Given the description of an element on the screen output the (x, y) to click on. 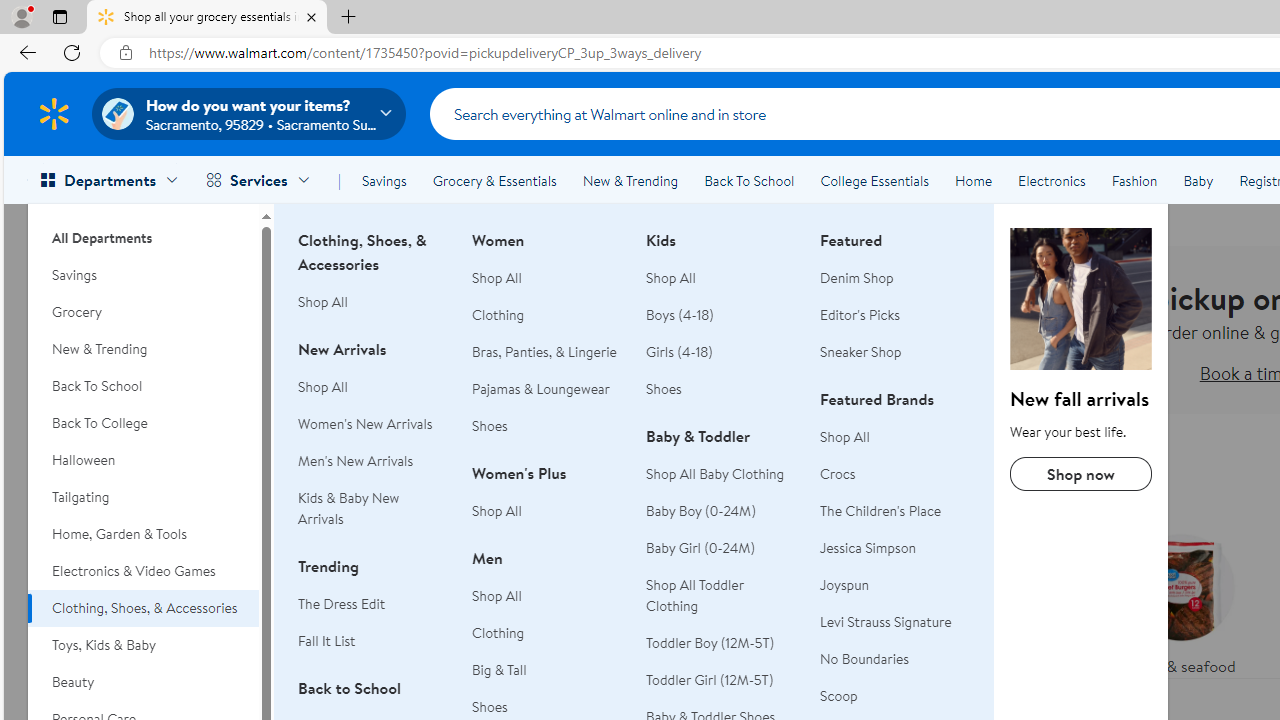
Fresh produce (1024, 599)
Electronics (1051, 180)
Shoes (721, 389)
Editor's Picks (895, 315)
Baby (1197, 180)
Shoes (664, 388)
Jessica Simpson (895, 547)
Men's New Arrivals (373, 461)
Fall It List (373, 641)
Clothing, Shoes, & Accessories (143, 608)
Big & Tall (547, 670)
Toddler Boy (12M-5T) (710, 642)
Sneaker Shop (861, 352)
